Given the description of an element on the screen output the (x, y) to click on. 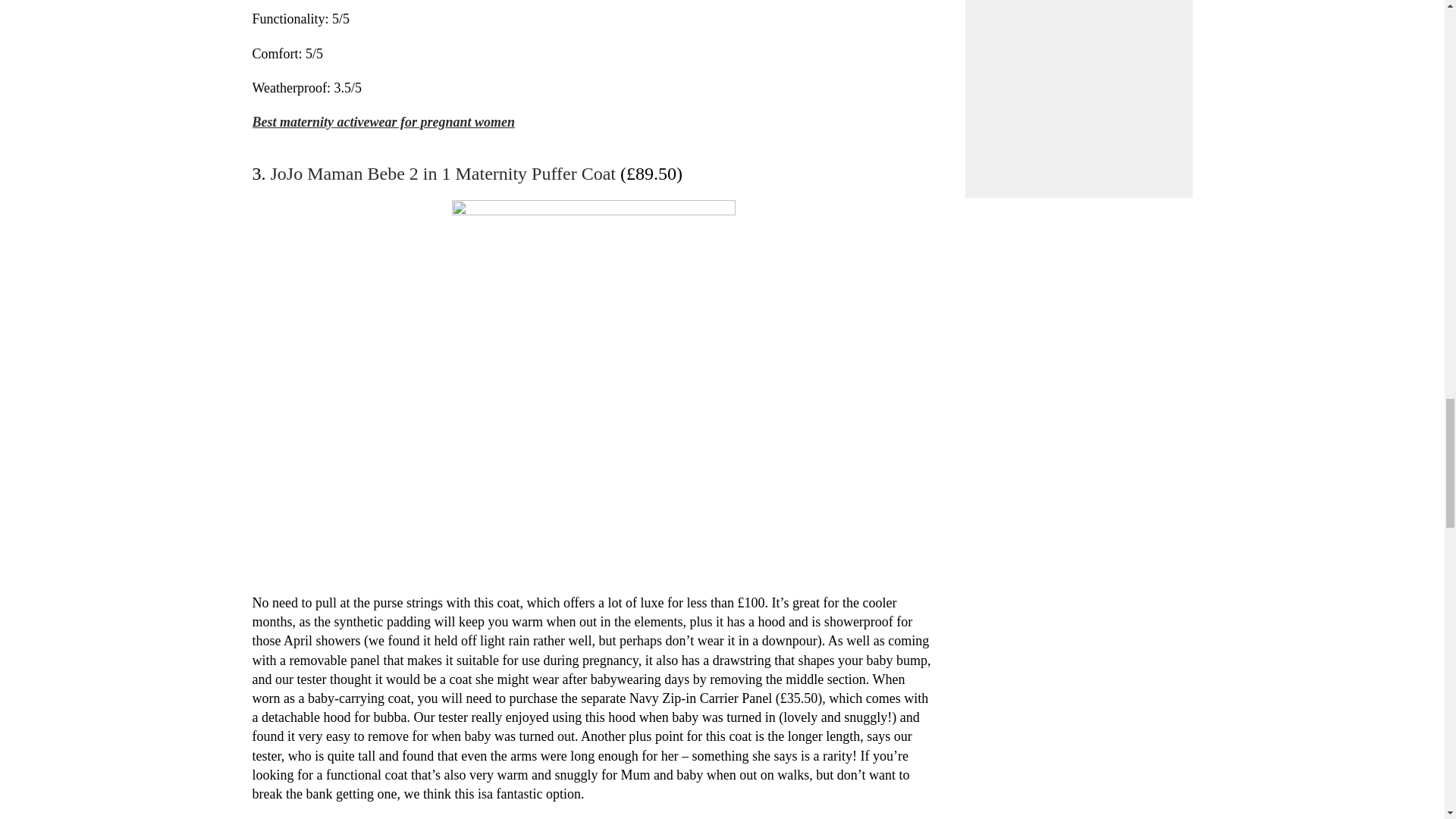
JoJo Maman Bebe 2 in 1 Maternity Puffer Coat (441, 173)
Best maternity activewear for pregnant women (383, 121)
